Given the description of an element on the screen output the (x, y) to click on. 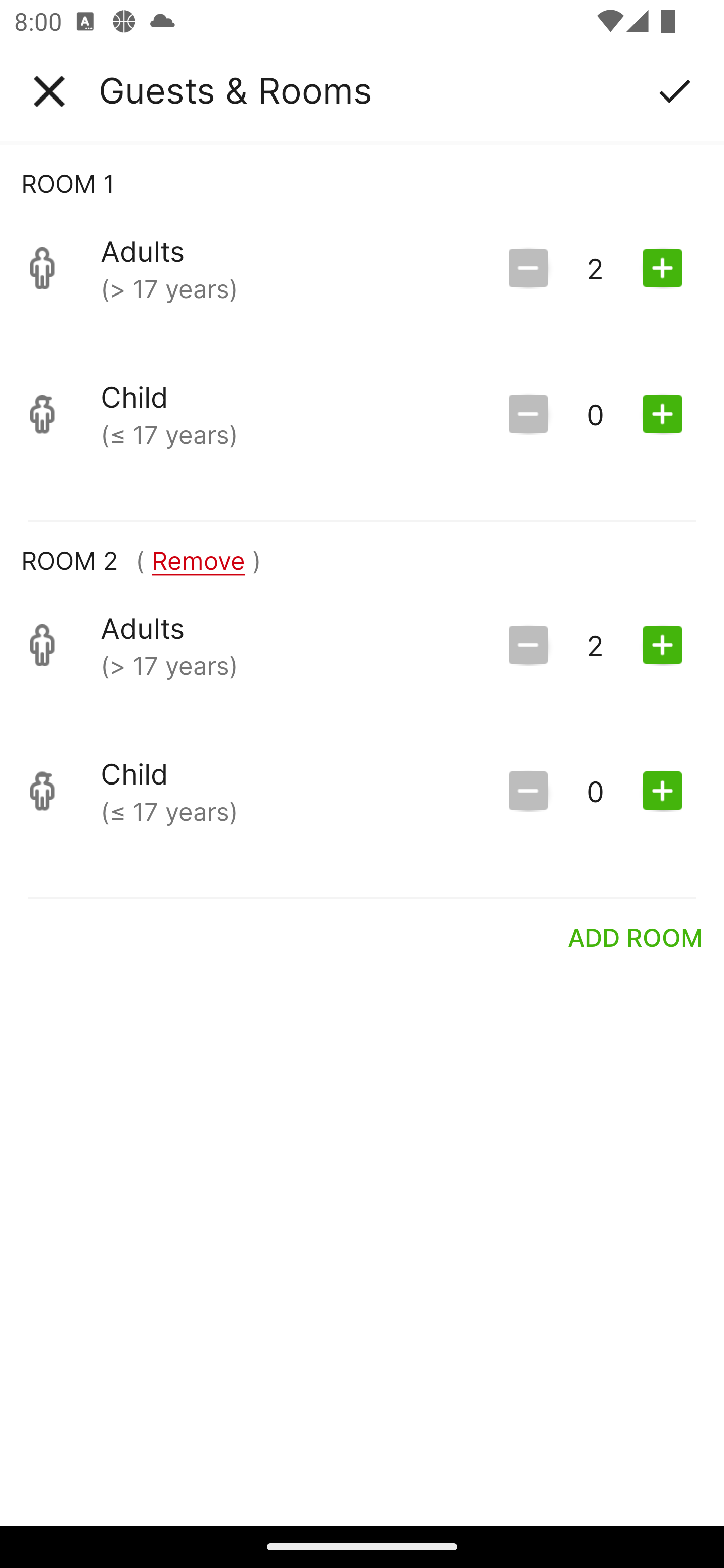
( Remove ) (198, 560)
ADD ROOM (635, 936)
